Given the description of an element on the screen output the (x, y) to click on. 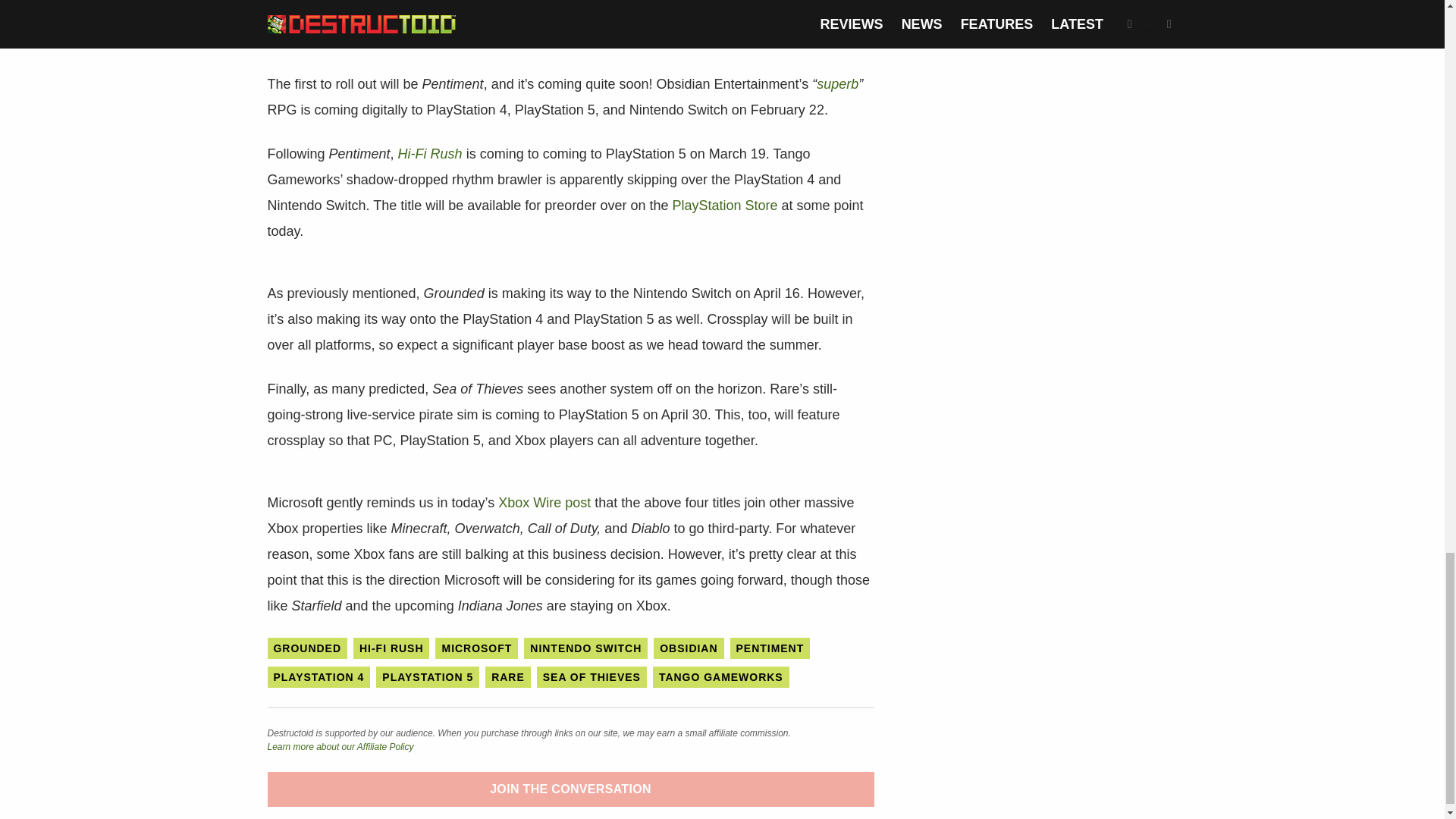
JOIN THE CONVERSATION (569, 789)
